Given the description of an element on the screen output the (x, y) to click on. 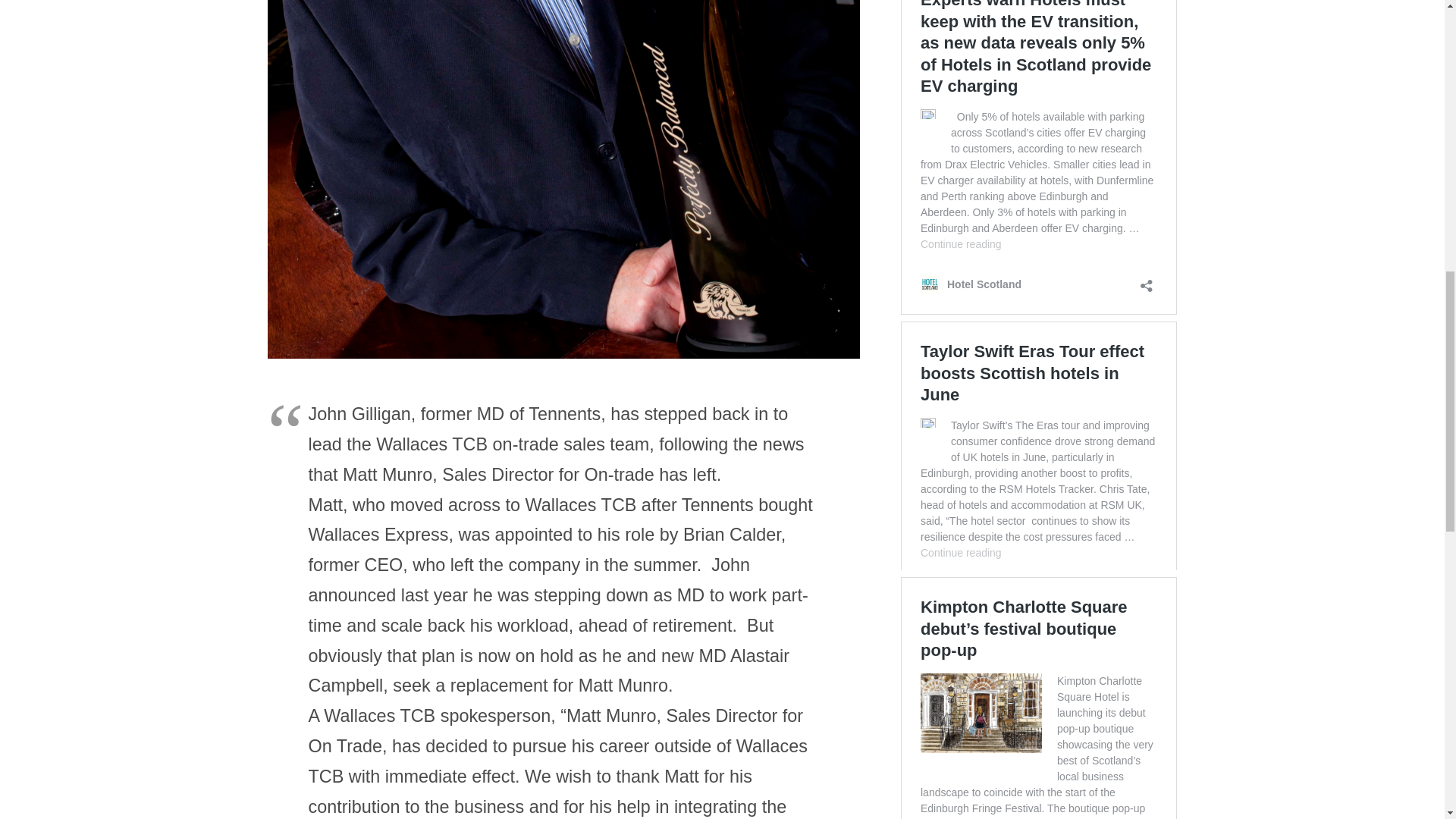
Back to top (1413, 26)
